Given the description of an element on the screen output the (x, y) to click on. 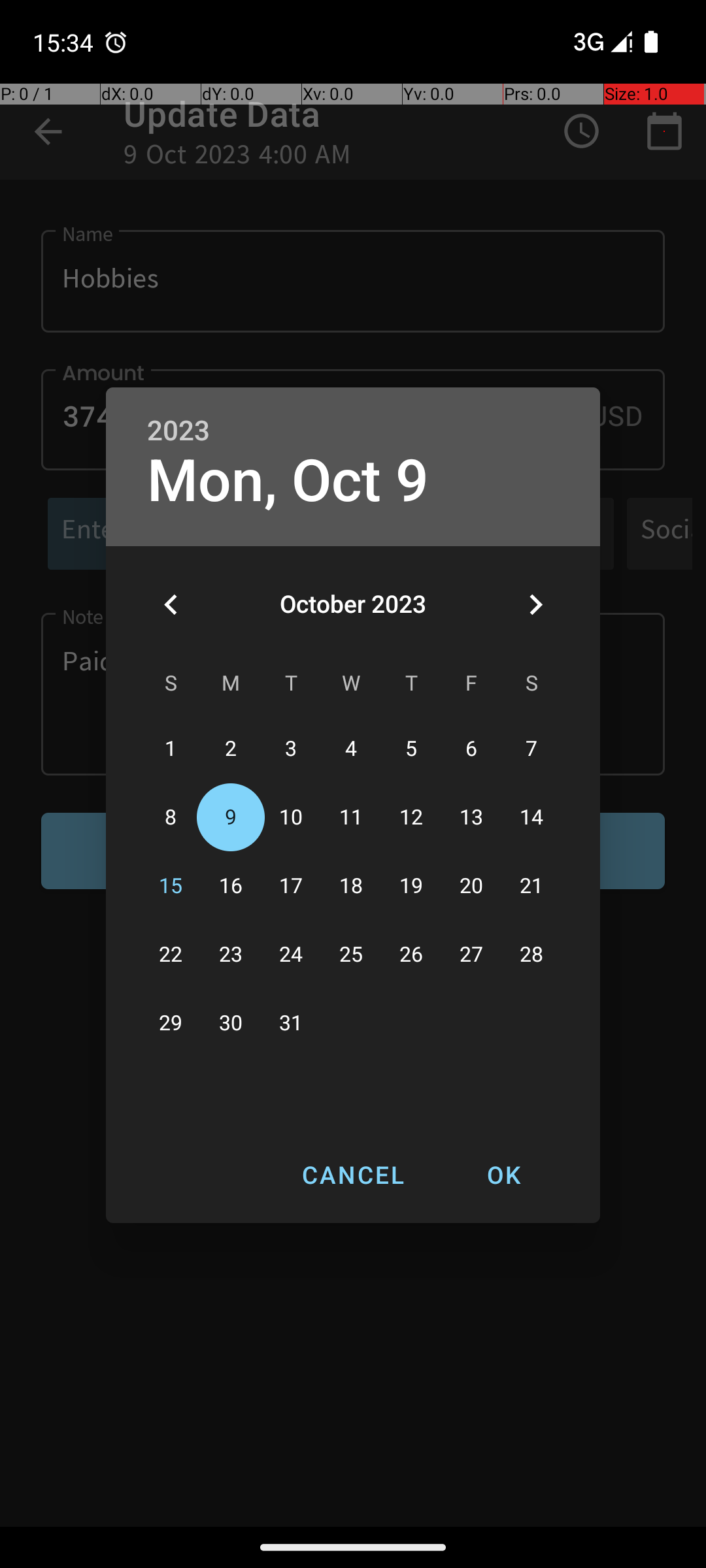
Mon, Oct 9 Element type: android.widget.TextView (287, 480)
